Given the description of an element on the screen output the (x, y) to click on. 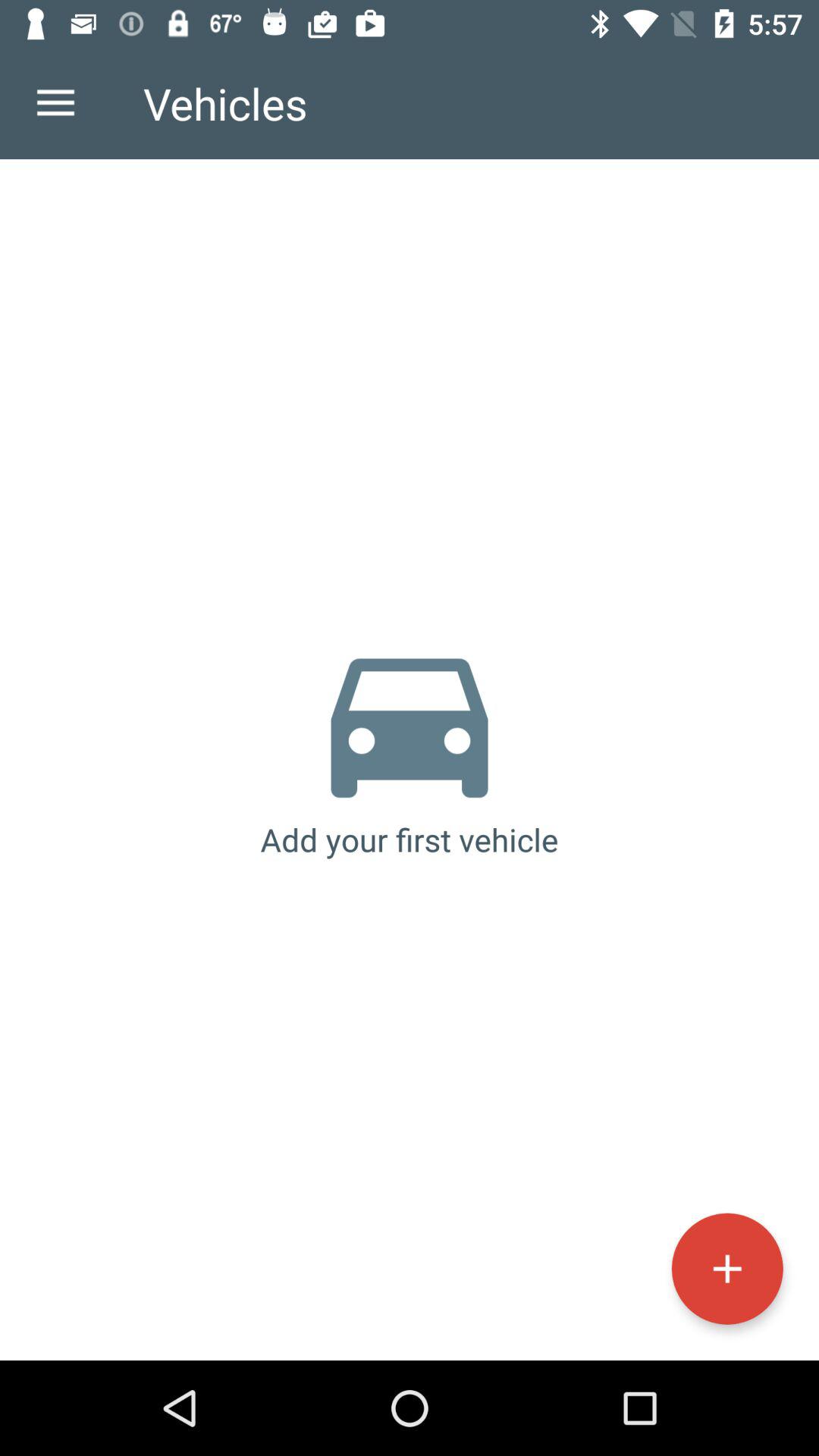
launch icon at the bottom right corner (727, 1268)
